Given the description of an element on the screen output the (x, y) to click on. 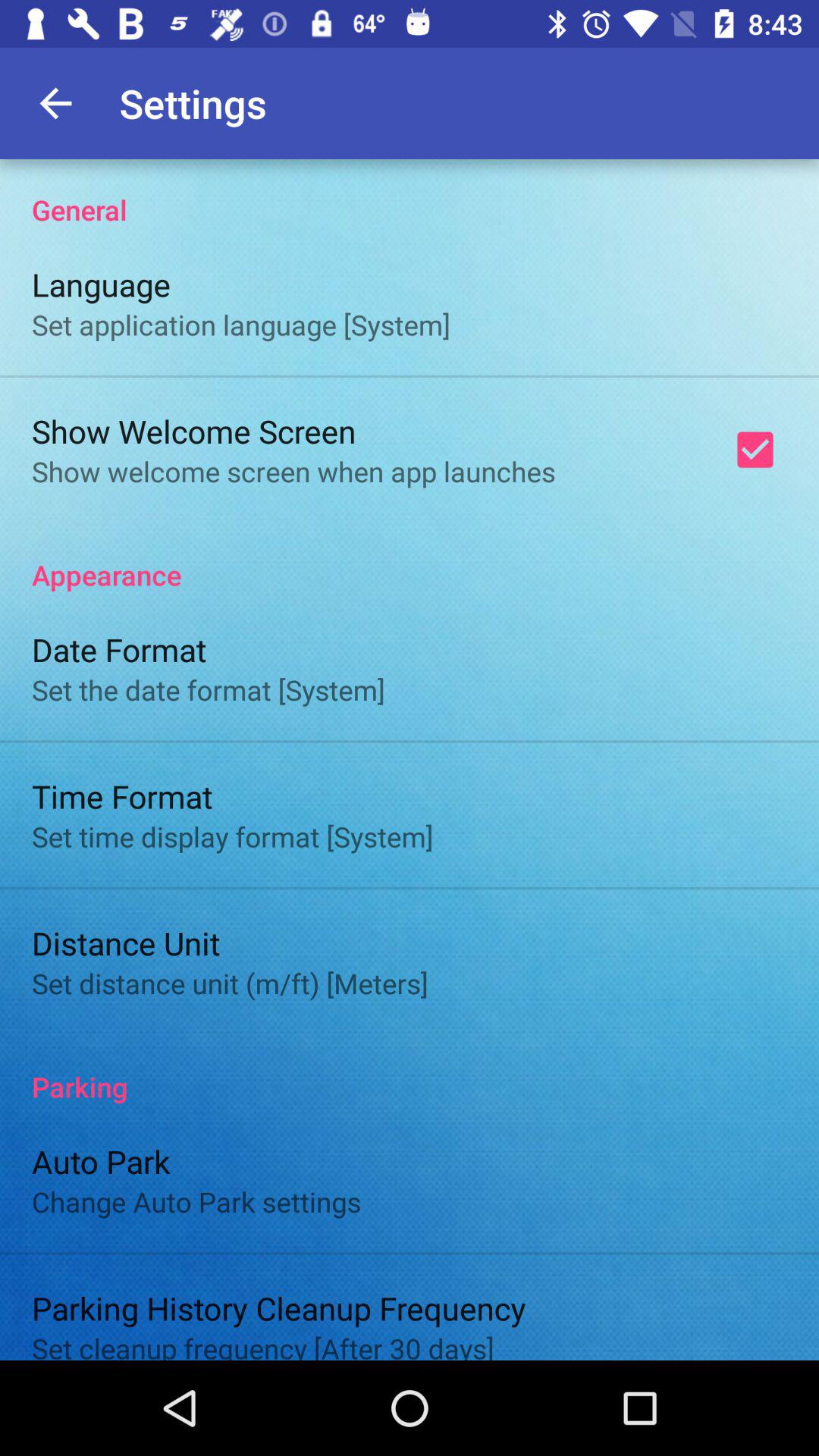
launch the item above the language icon (409, 193)
